Given the description of an element on the screen output the (x, y) to click on. 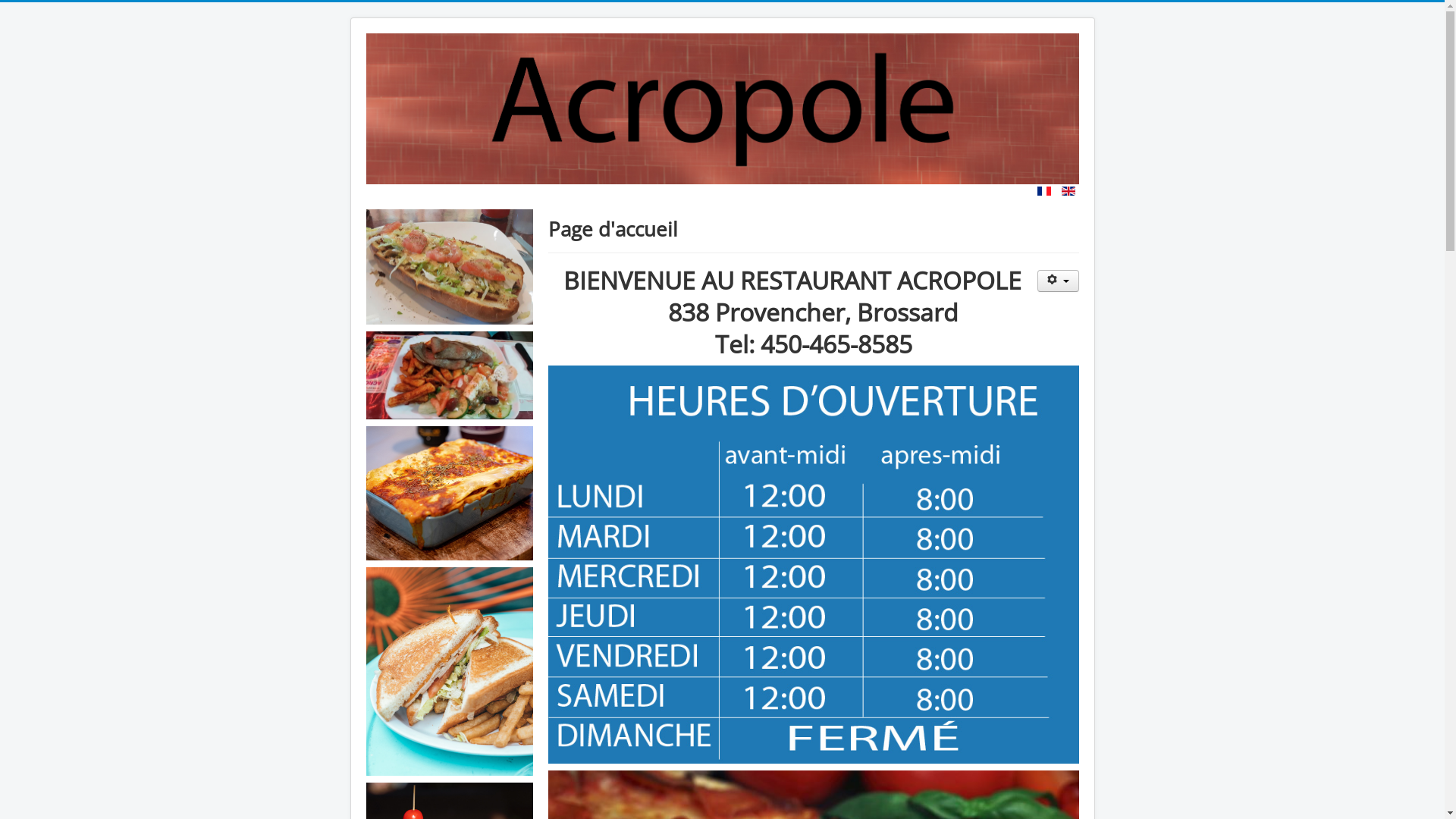
English (United Kingdom) Element type: hover (1068, 190)
